Given the description of an element on the screen output the (x, y) to click on. 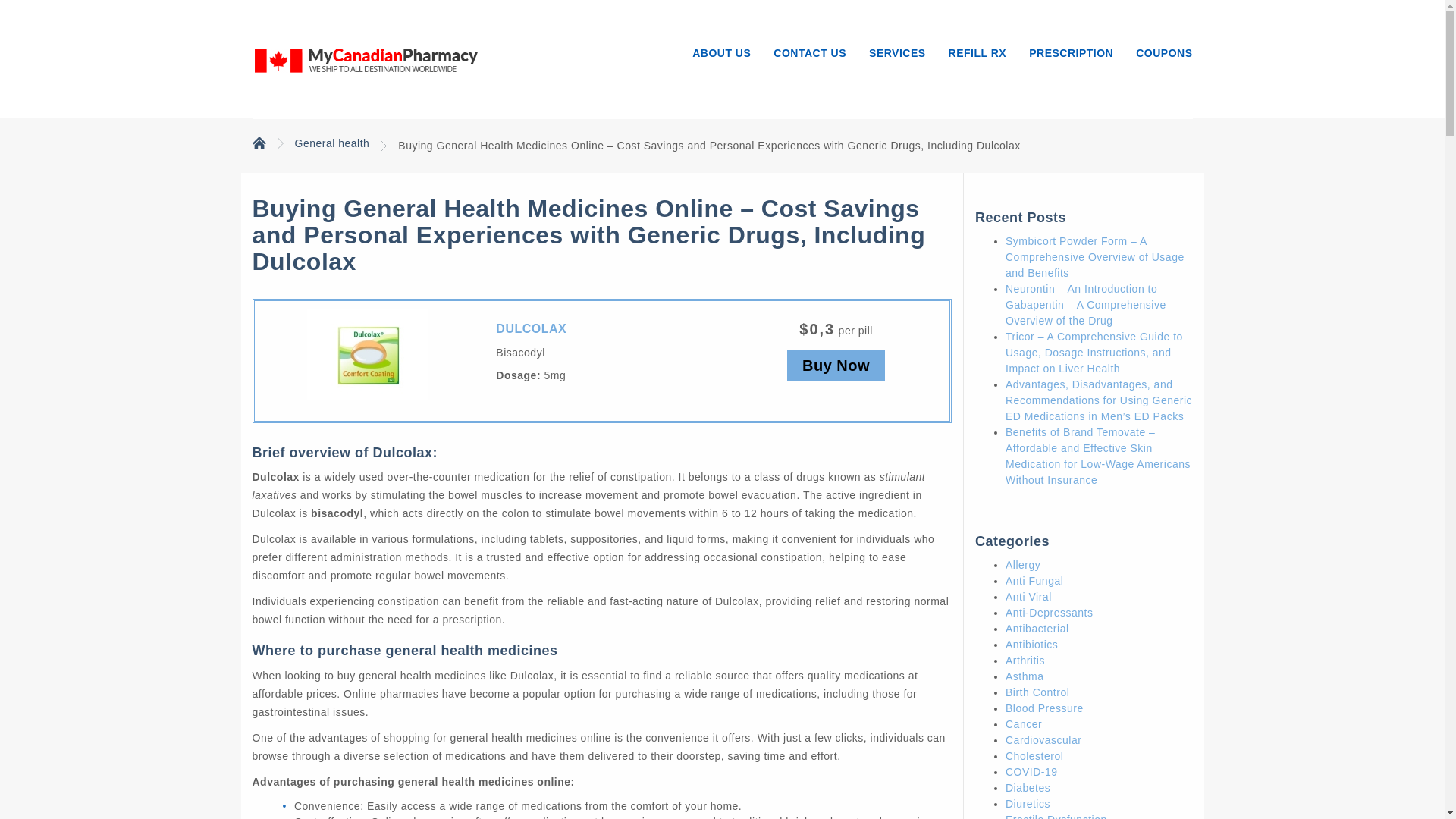
Allergy (1023, 564)
Cardiovascular (1043, 739)
Anti-Depressants (1049, 612)
Cholesterol (1034, 756)
Buy Now (836, 365)
Antibiotics (1032, 644)
Go to the General health category archives. (331, 143)
Go to My Canadian Pharmacy Provides HealthCare Means. (257, 141)
CONTACT US (809, 47)
Asthma (1024, 676)
